Given the description of an element on the screen output the (x, y) to click on. 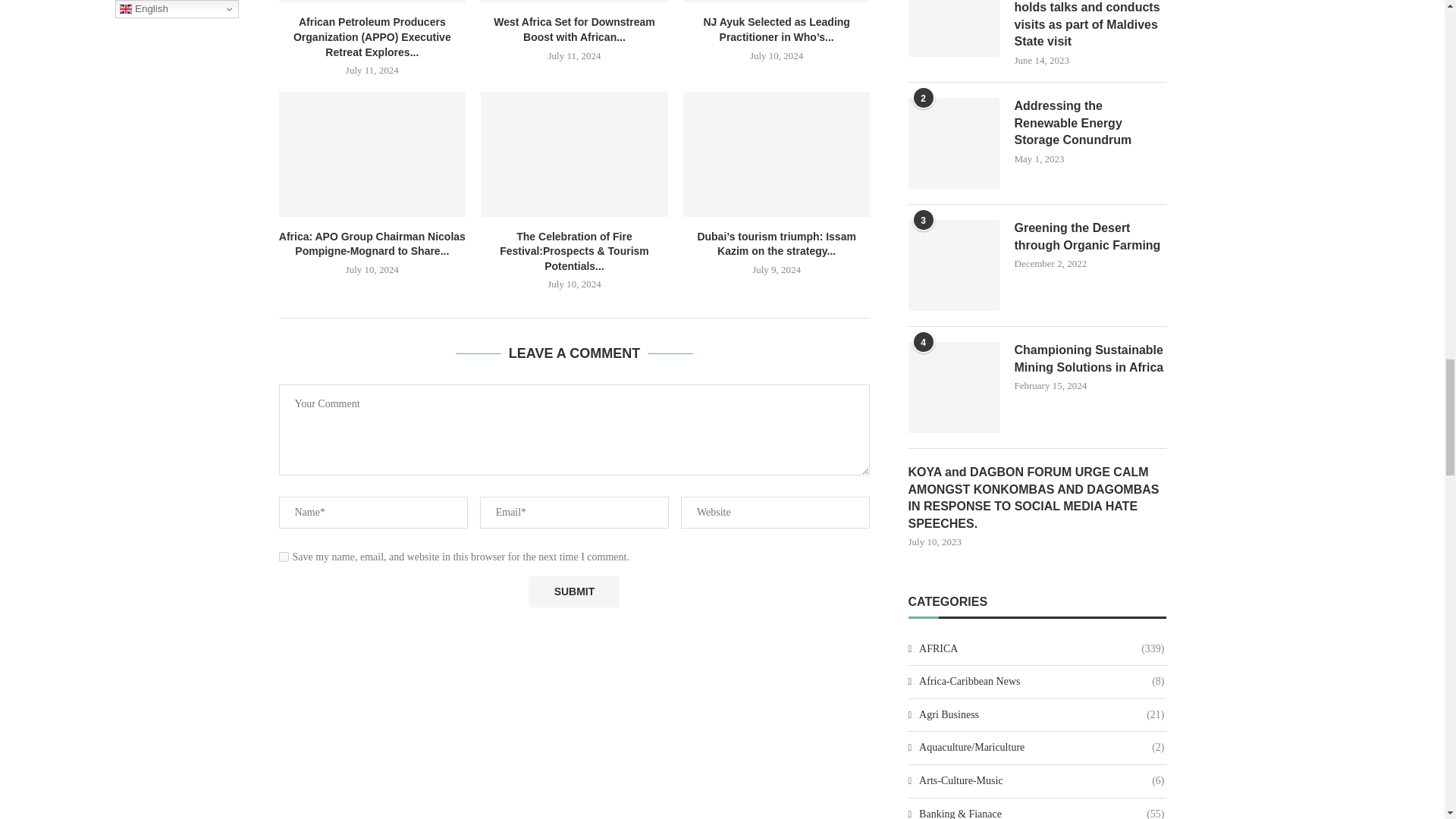
Submit (574, 591)
yes (283, 556)
